Given the description of an element on the screen output the (x, y) to click on. 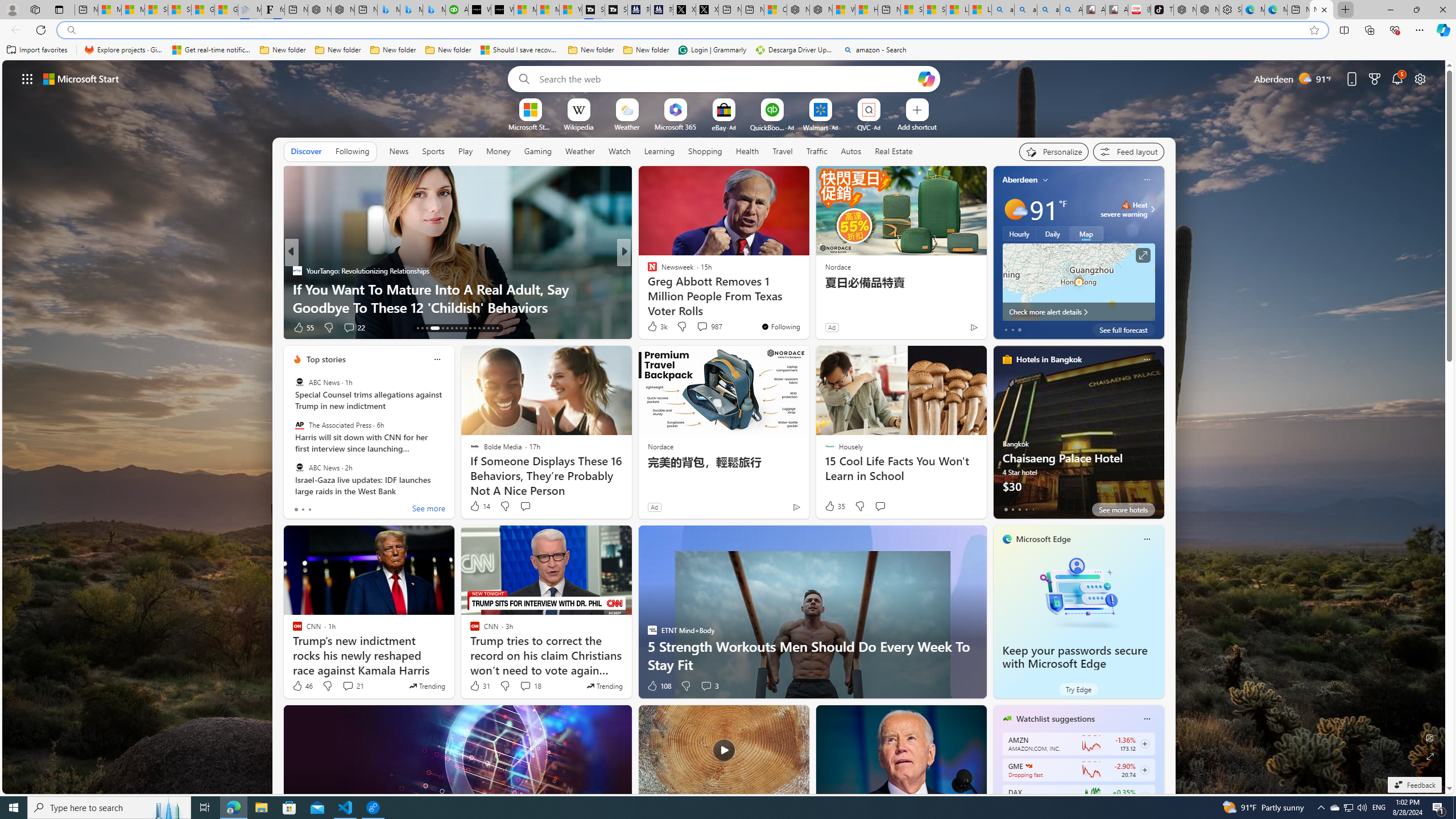
View comments 52 Comment (704, 327)
Settings (1230, 9)
Amazon Echo Robot - Search Images (1071, 9)
12 Like (652, 327)
69 Like (652, 327)
Heat - Severe Heat severe warning (1123, 208)
Shopping (705, 151)
Shopping (705, 151)
Real Estate (893, 151)
